Given the description of an element on the screen output the (x, y) to click on. 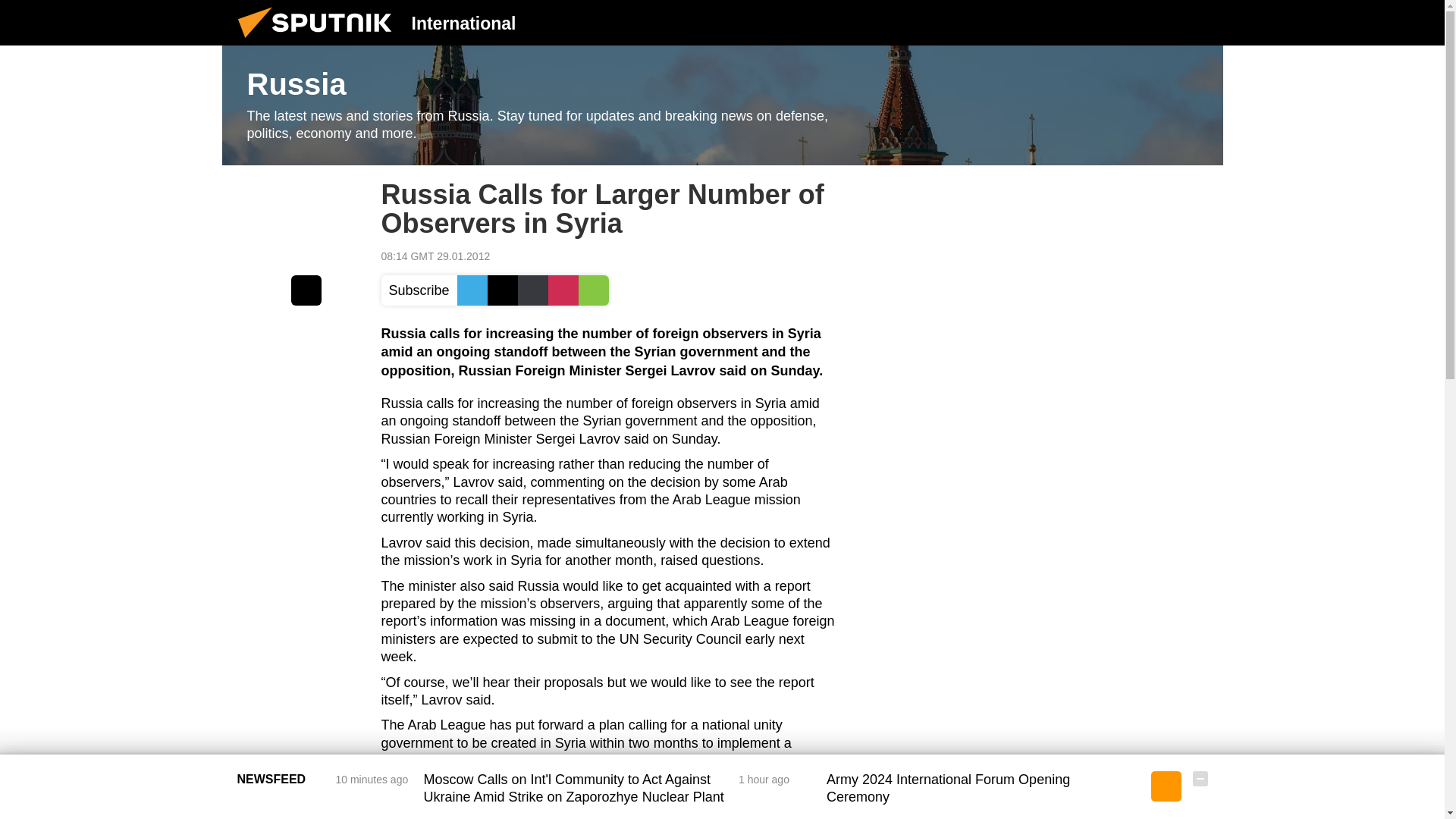
Authorization (1123, 22)
Sputnik International (319, 41)
Chats (1199, 22)
Russia (722, 105)
